Given the description of an element on the screen output the (x, y) to click on. 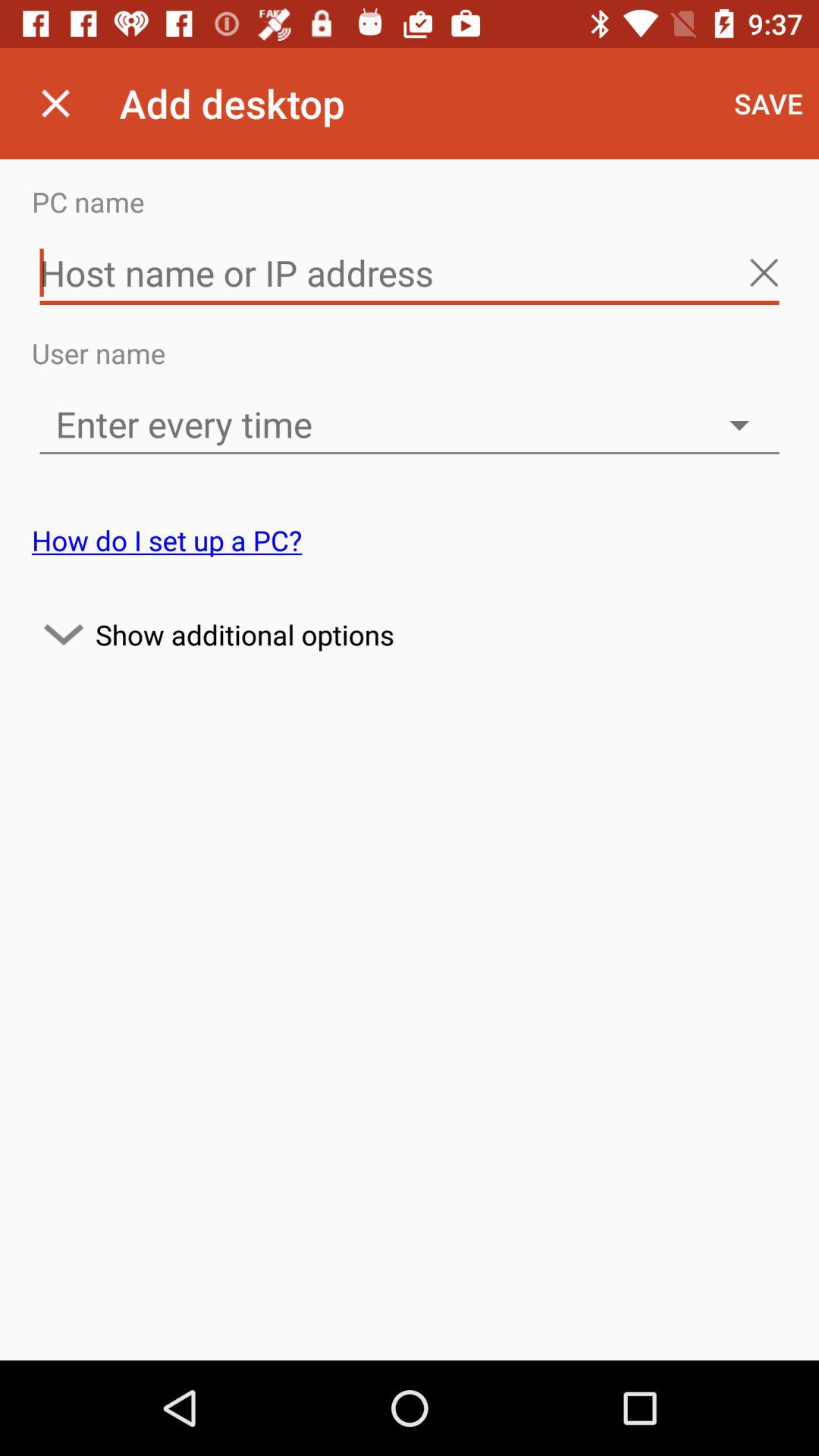
press icon at the center (409, 634)
